Given the description of an element on the screen output the (x, y) to click on. 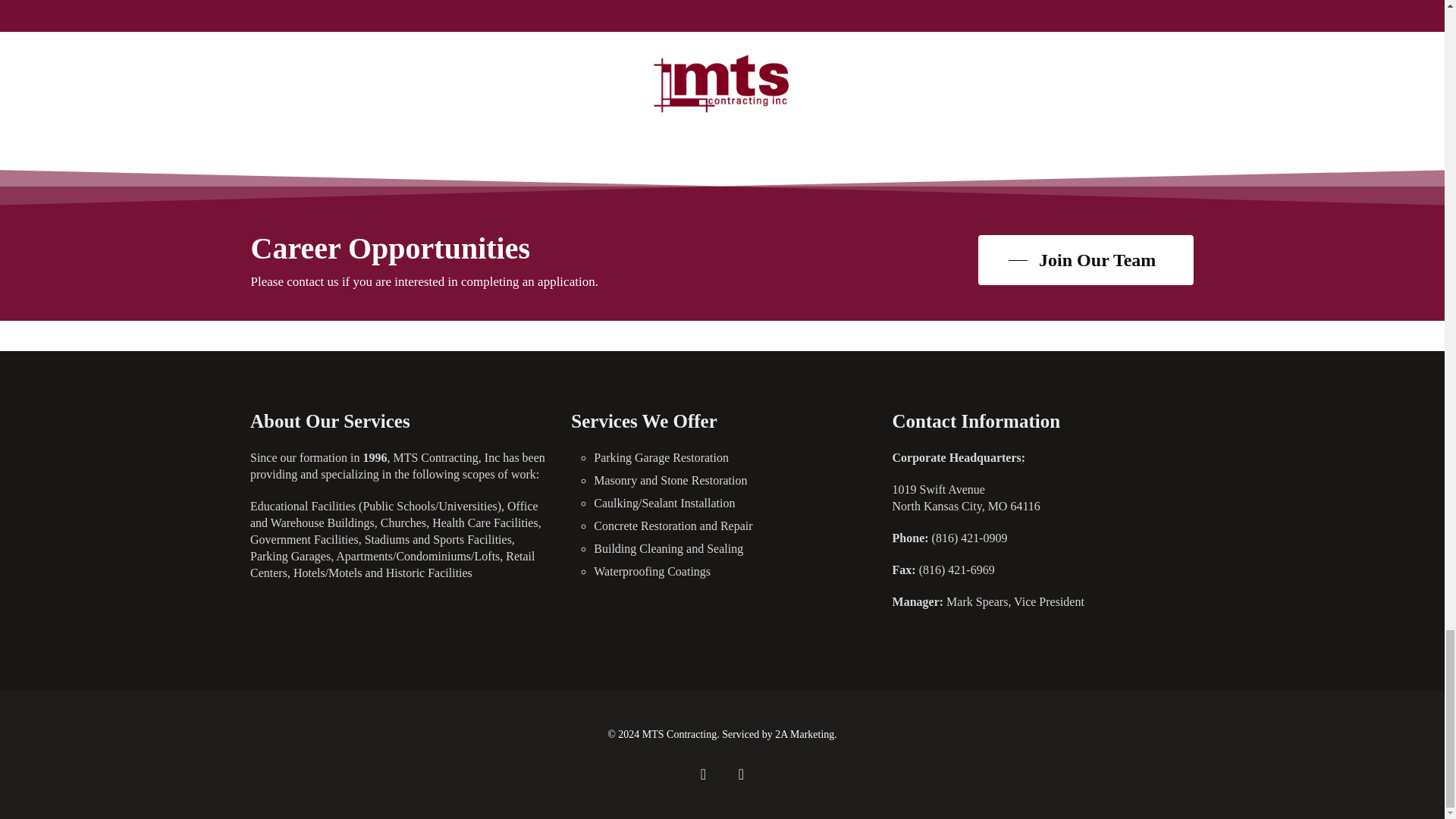
Join Our Team (1086, 260)
Concrete Restoration and Repair (733, 525)
2A Marketing. (805, 734)
Building Cleaning and Sealing (733, 548)
Waterproofing Coatings (733, 571)
linkedin (740, 773)
Masonry and Stone Restoration (733, 480)
Parking Garage Restoration (733, 457)
facebook (702, 773)
